Given the description of an element on the screen output the (x, y) to click on. 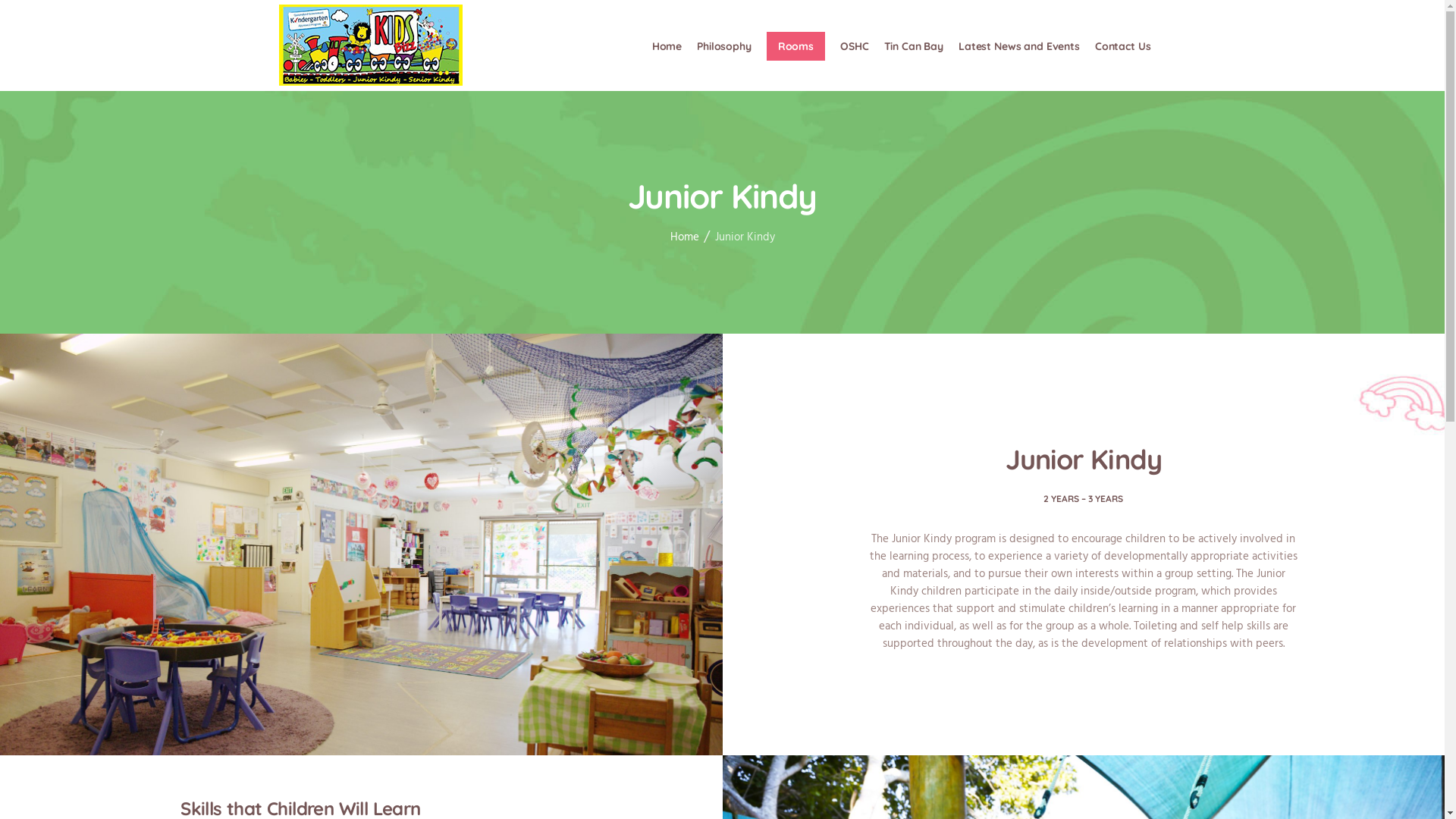
Tin Can Bay Element type: text (913, 45)
Home Element type: text (684, 238)
Latest News and Events Element type: text (1018, 45)
Philosophy Element type: text (724, 45)
OSHC Element type: text (853, 45)
Contact Us Element type: text (1122, 45)
Rooms Element type: text (795, 45)
Home Element type: text (666, 45)
